Given the description of an element on the screen output the (x, y) to click on. 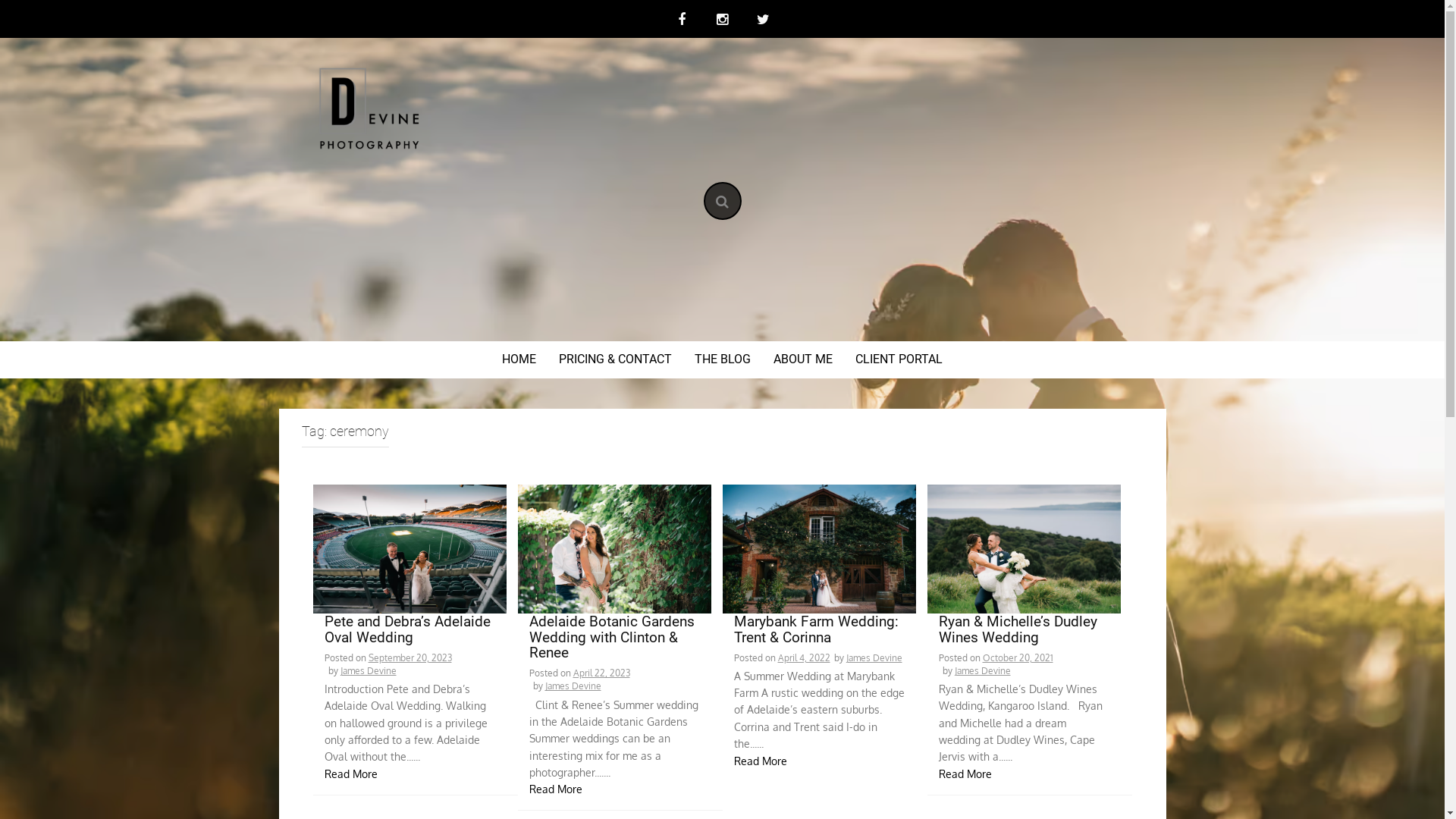
CLIENT PORTAL Element type: text (898, 359)
James Devine Element type: text (367, 670)
Read More Element type: text (555, 789)
April 22, 2023 Element type: text (601, 672)
Marybank Farm Wedding: Trent & Corinna Element type: hover (818, 547)
Read More Element type: text (964, 773)
Adelaide Botanic Gardens Wedding with Clinton & Renee Element type: text (614, 638)
April 4, 2022 Element type: text (804, 657)
Adelaide Botanic Gardens Wedding with Clinton & Renee Element type: hover (613, 547)
THE BLOG Element type: text (722, 359)
September 20, 2023 Element type: text (409, 657)
HOME Element type: text (519, 359)
October 20, 2021 Element type: text (1017, 657)
Read More Element type: text (350, 773)
PRICING & CONTACT Element type: text (614, 359)
ABOUT ME Element type: text (802, 359)
Read More Element type: text (760, 760)
James Devine Element type: text (572, 685)
James Devine Element type: text (981, 670)
Marybank Farm Wedding: Trent & Corinna Element type: text (819, 630)
James Devine Element type: text (874, 657)
